Given the description of an element on the screen output the (x, y) to click on. 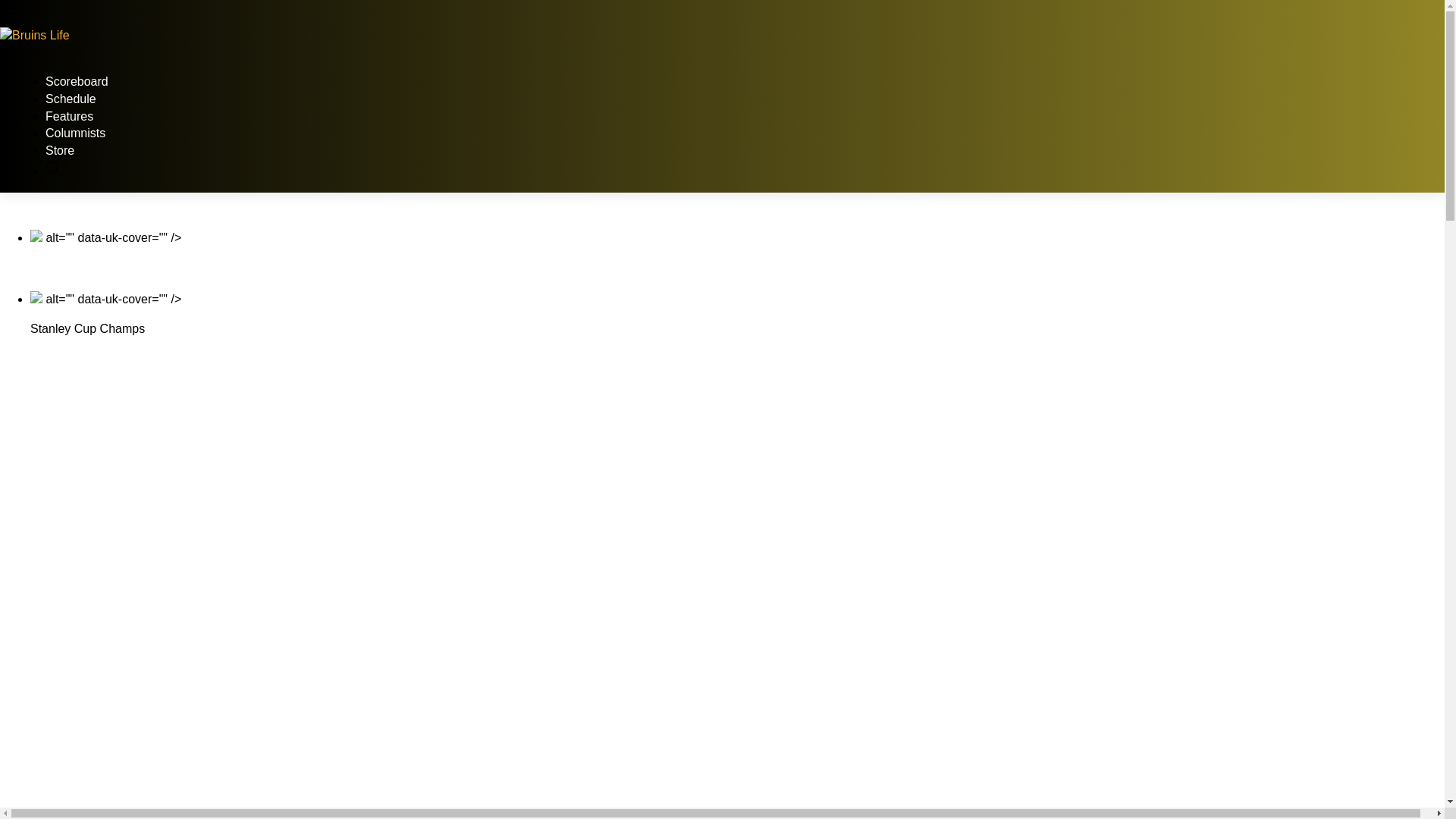
Menu (722, 11)
Features (69, 115)
Columnists (74, 132)
Search (53, 170)
Store (59, 150)
Scoreboard (76, 81)
Schedule (70, 98)
